Given the description of an element on the screen output the (x, y) to click on. 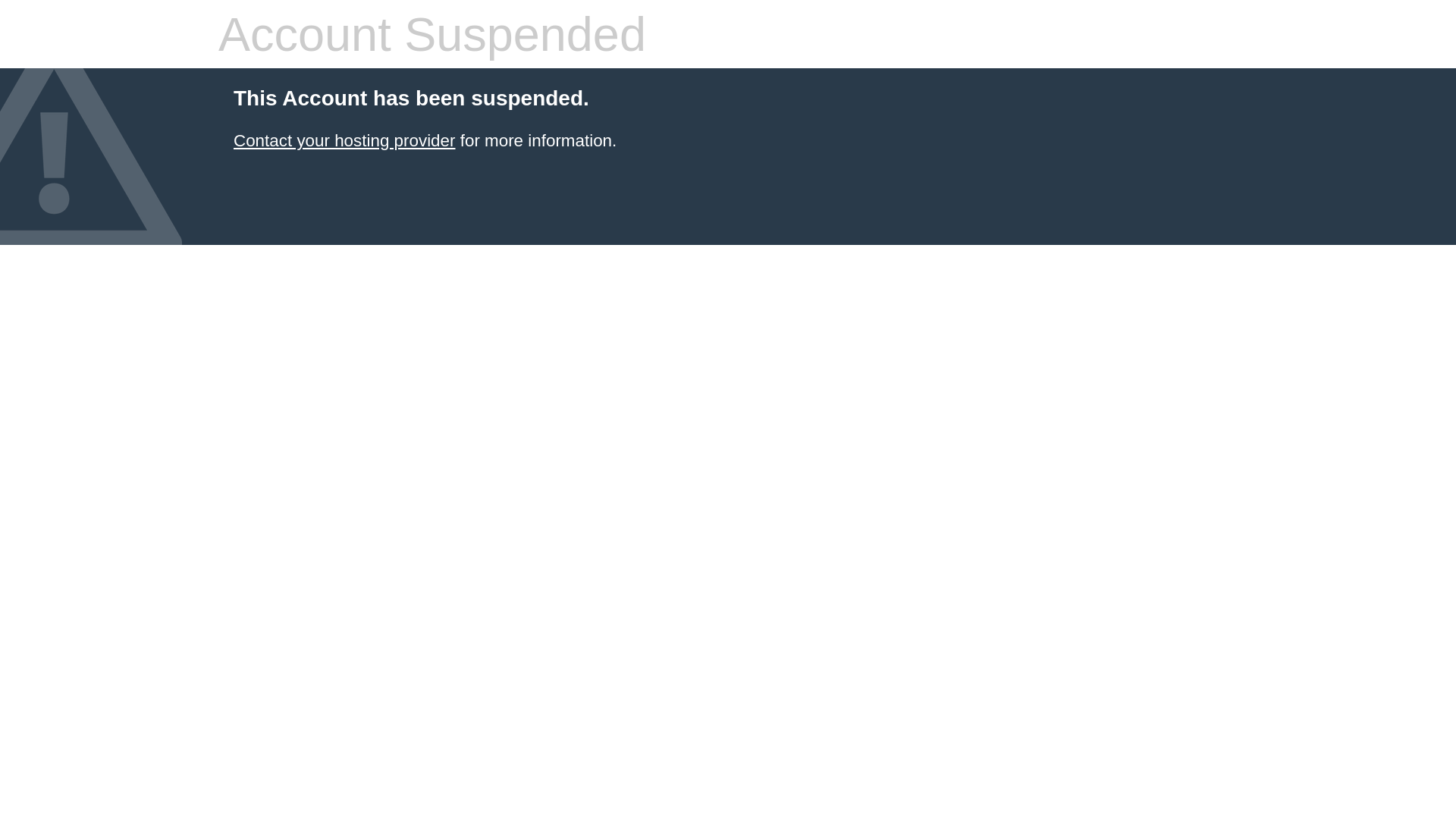
Contact your hosting provider Element type: text (344, 140)
